Given the description of an element on the screen output the (x, y) to click on. 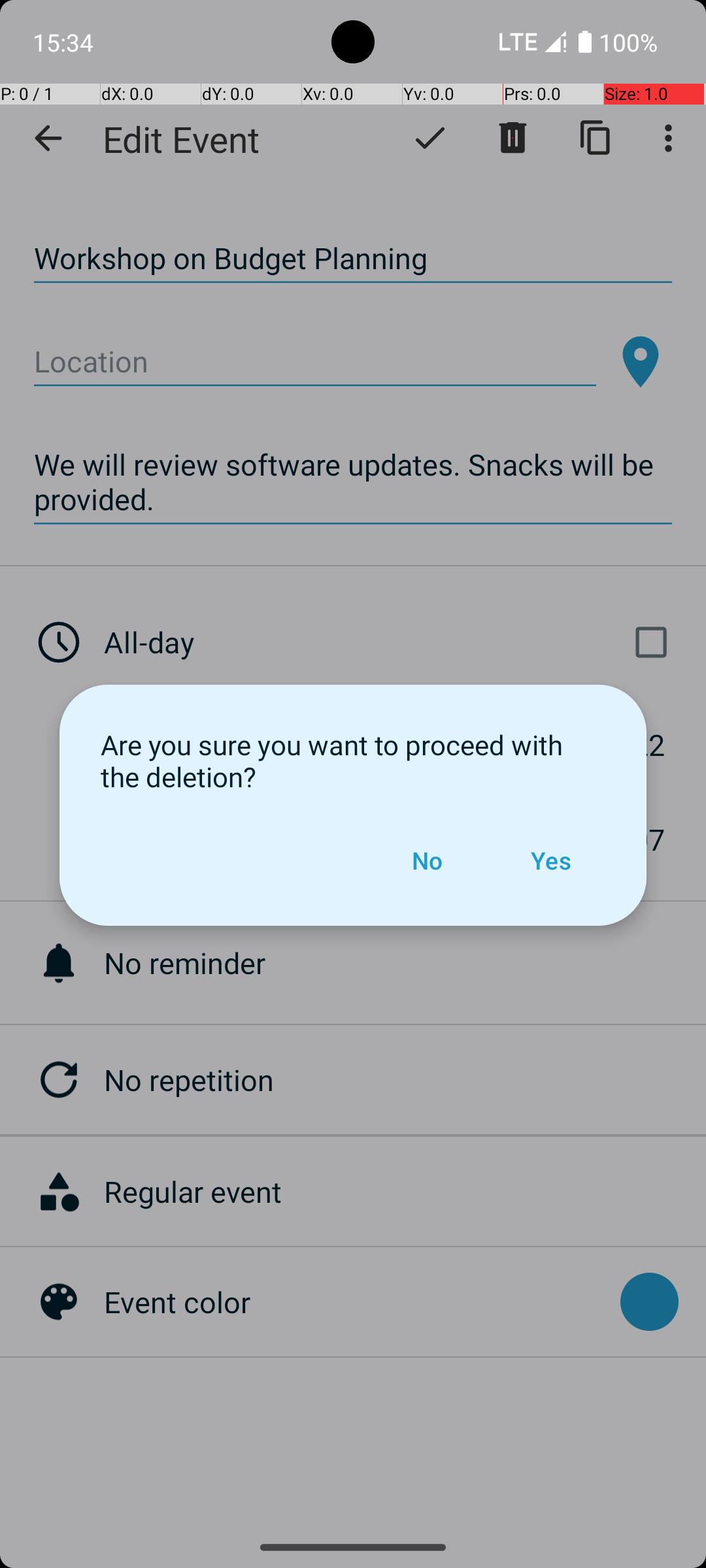
Are you sure you want to proceed with the deletion? Element type: android.widget.TextView (352, 760)
No Element type: android.widget.Button (426, 860)
Yes Element type: android.widget.Button (550, 860)
